Given the description of an element on the screen output the (x, y) to click on. 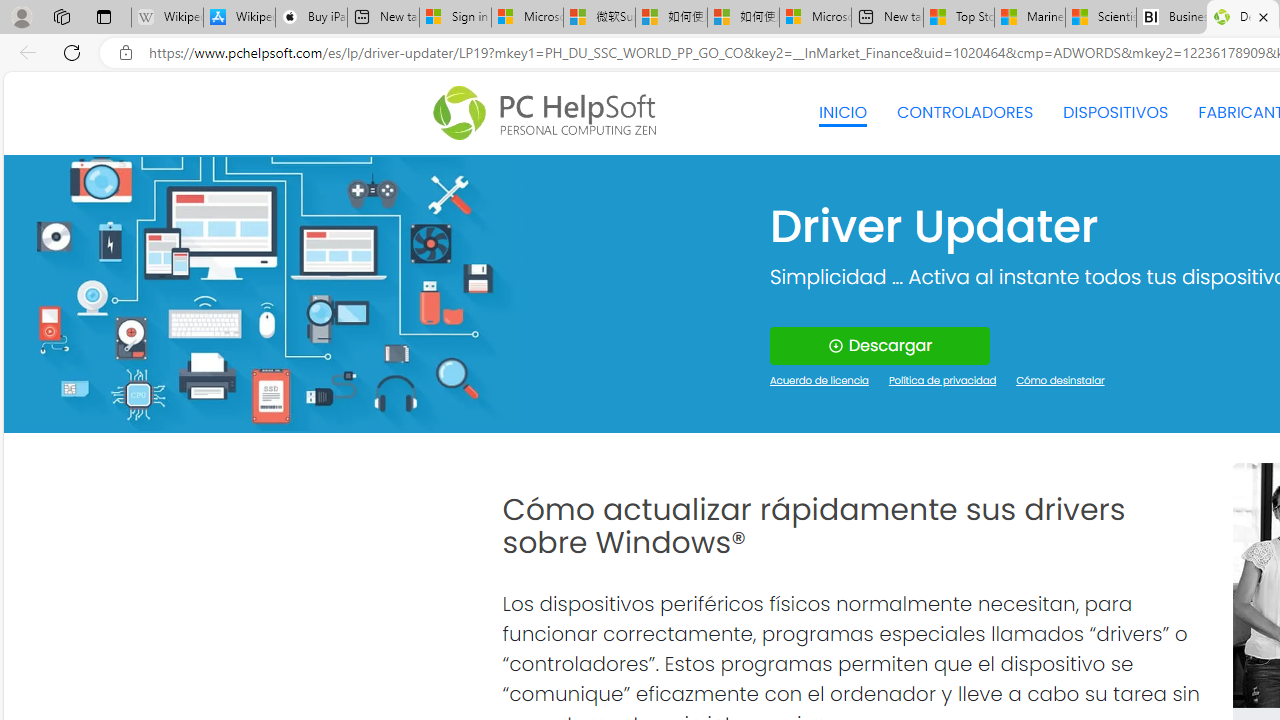
DISPOSITIVOS (1115, 112)
Microsoft account | Account Checkup (815, 17)
INICIO (842, 112)
DISPOSITIVOS (1115, 112)
Download Icon (834, 345)
Sign in to your Microsoft account (455, 17)
CONTROLADORES (965, 112)
Microsoft Services Agreement (527, 17)
Logo Personal Computing (550, 113)
Wikipedia - Sleeping (167, 17)
